Given the description of an element on the screen output the (x, y) to click on. 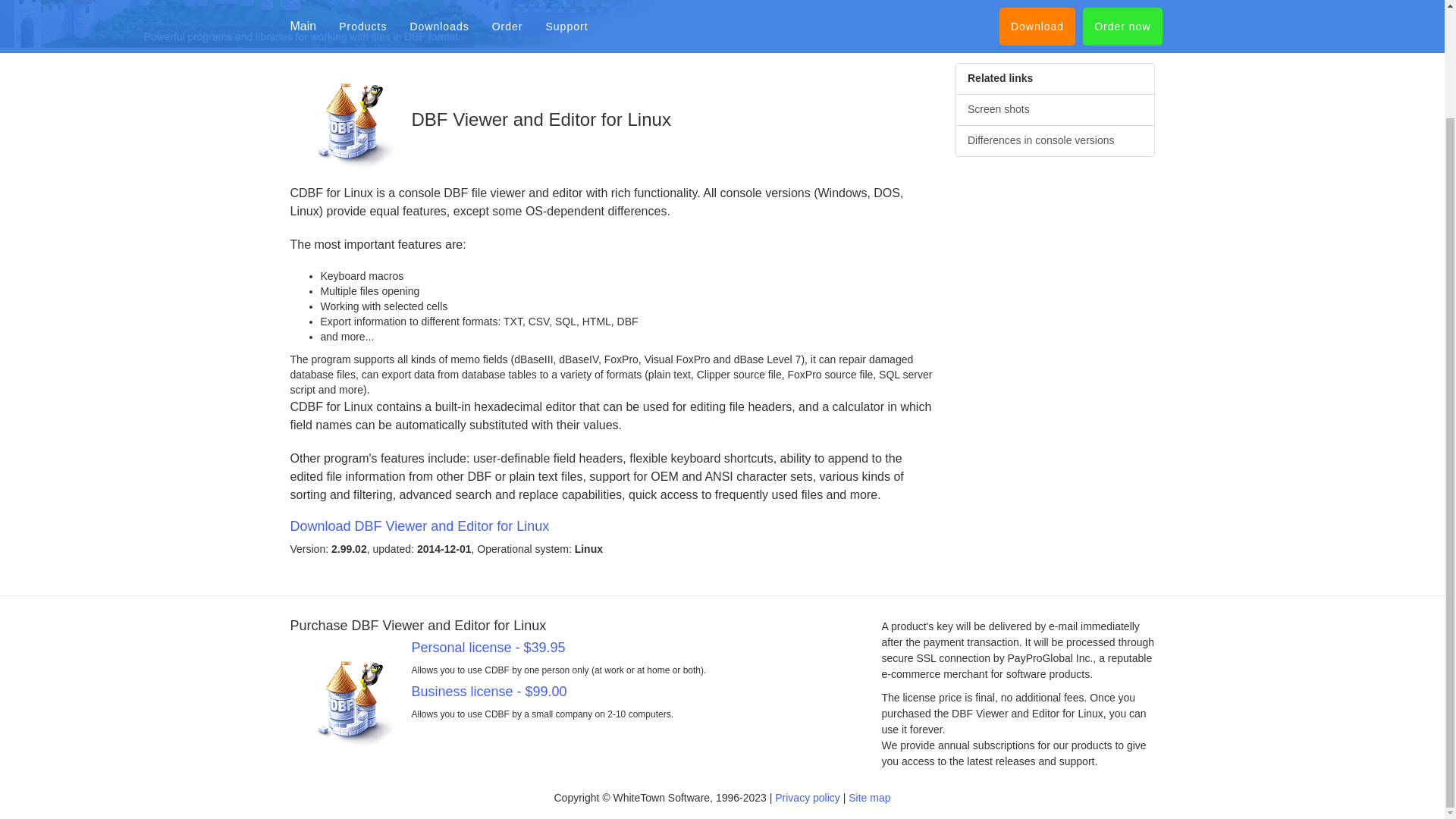
Download DBF Viewer and Editor for Linux (611, 537)
Screen shots (1054, 110)
Differences in console versions (1054, 141)
Privacy policy (807, 797)
Site map (868, 797)
